Given the description of an element on the screen output the (x, y) to click on. 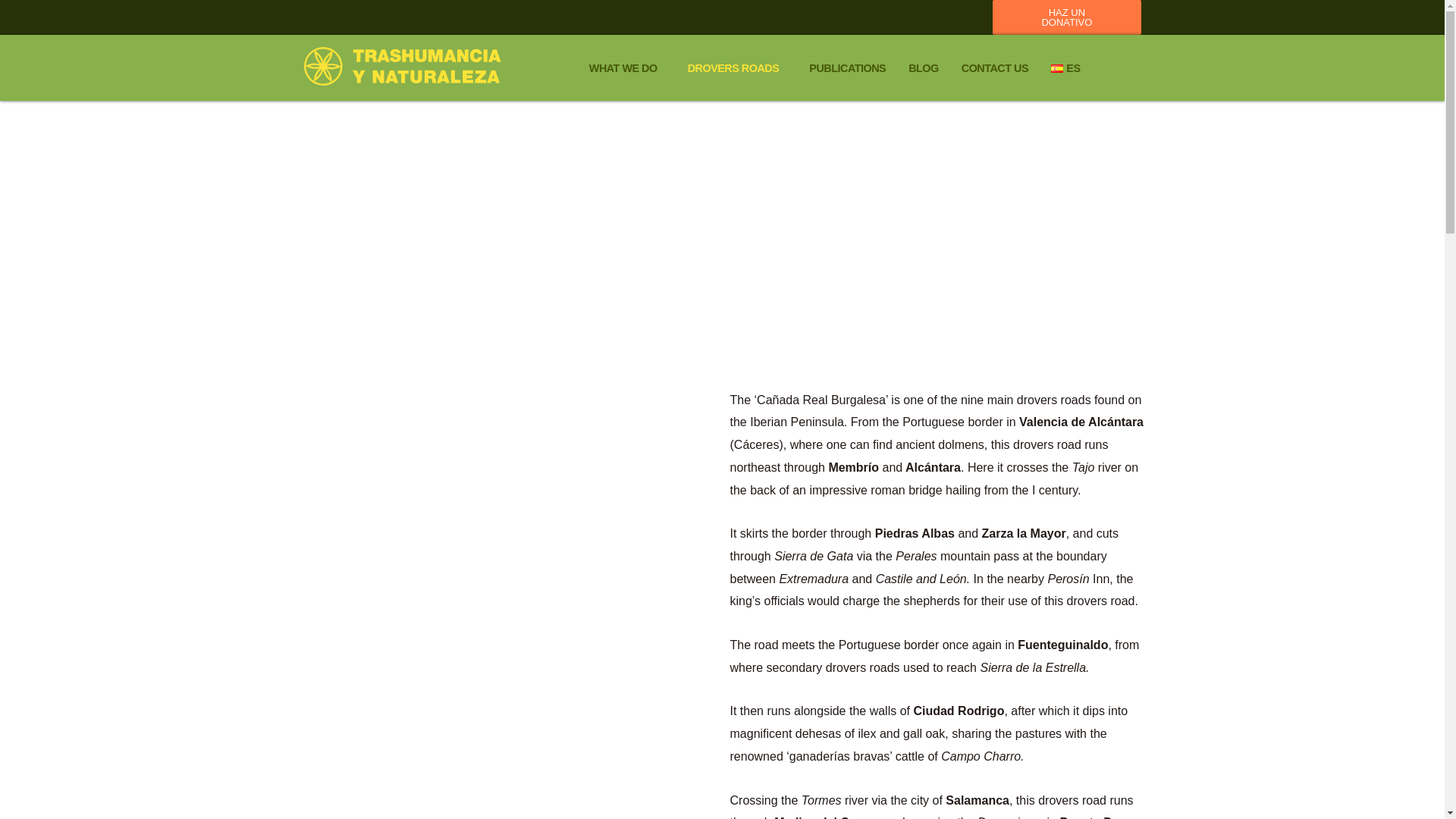
PUBLICATIONS (846, 68)
ES (1065, 68)
HAZ UN DONATIVO (1066, 17)
BLOG (923, 68)
DROVERS ROADS (737, 68)
WHAT WE DO (627, 68)
CONTACT US (994, 68)
